Given the description of an element on the screen output the (x, y) to click on. 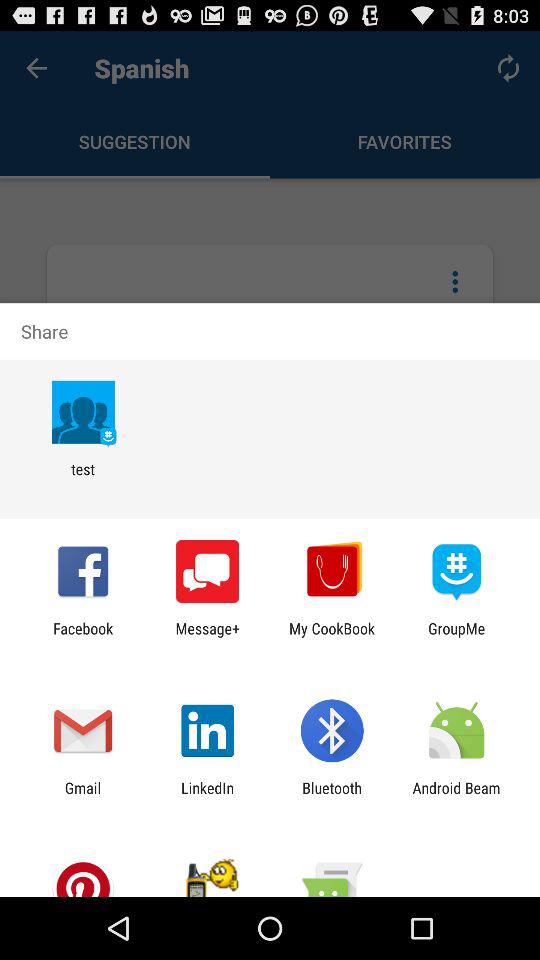
choose gmail (82, 796)
